Given the description of an element on the screen output the (x, y) to click on. 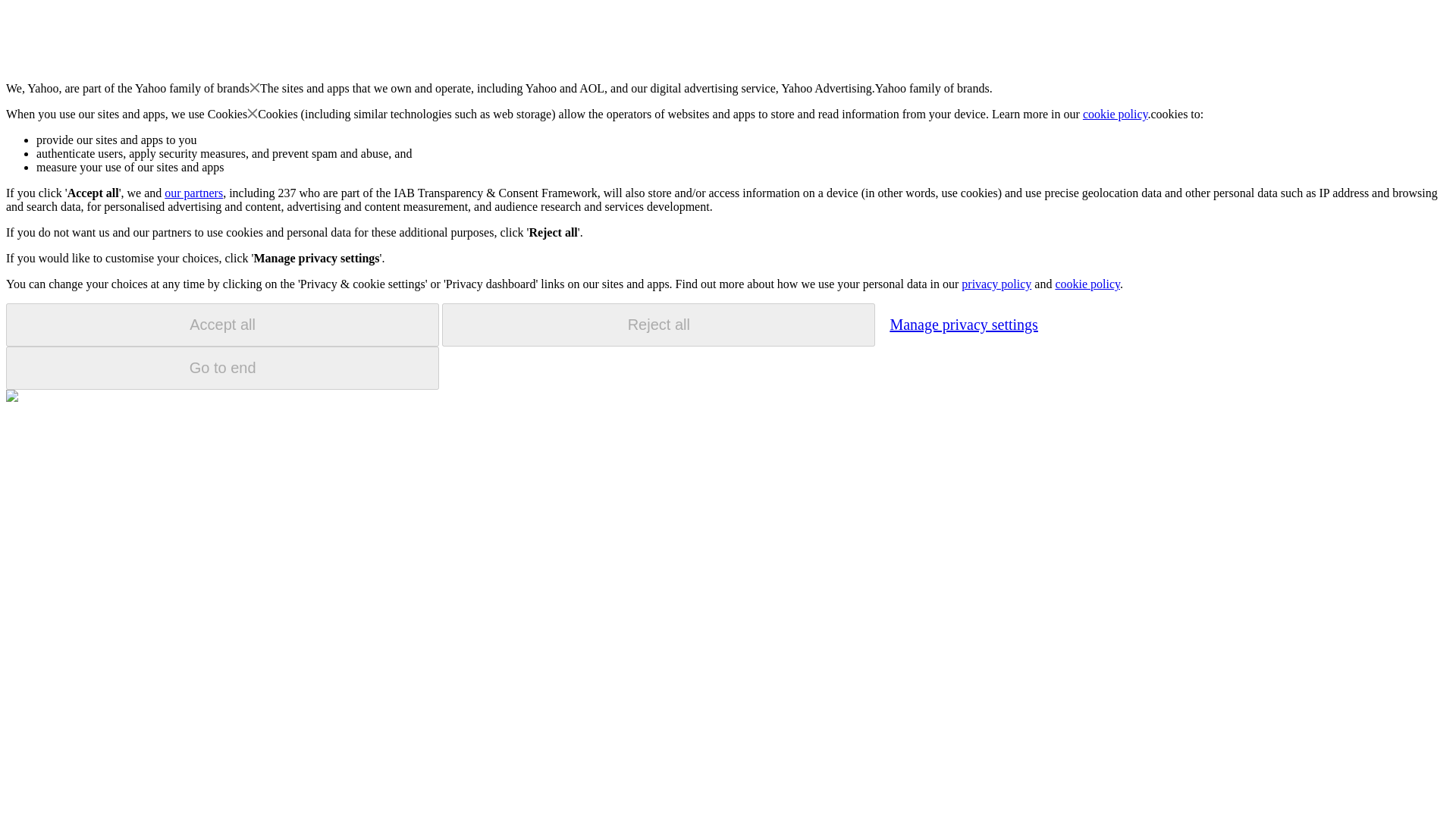
cookie policy (1115, 113)
cookie policy (1086, 283)
Go to end (222, 367)
our partners (193, 192)
privacy policy (995, 283)
Accept all (222, 324)
Reject all (658, 324)
Manage privacy settings (963, 323)
